Given the description of an element on the screen output the (x, y) to click on. 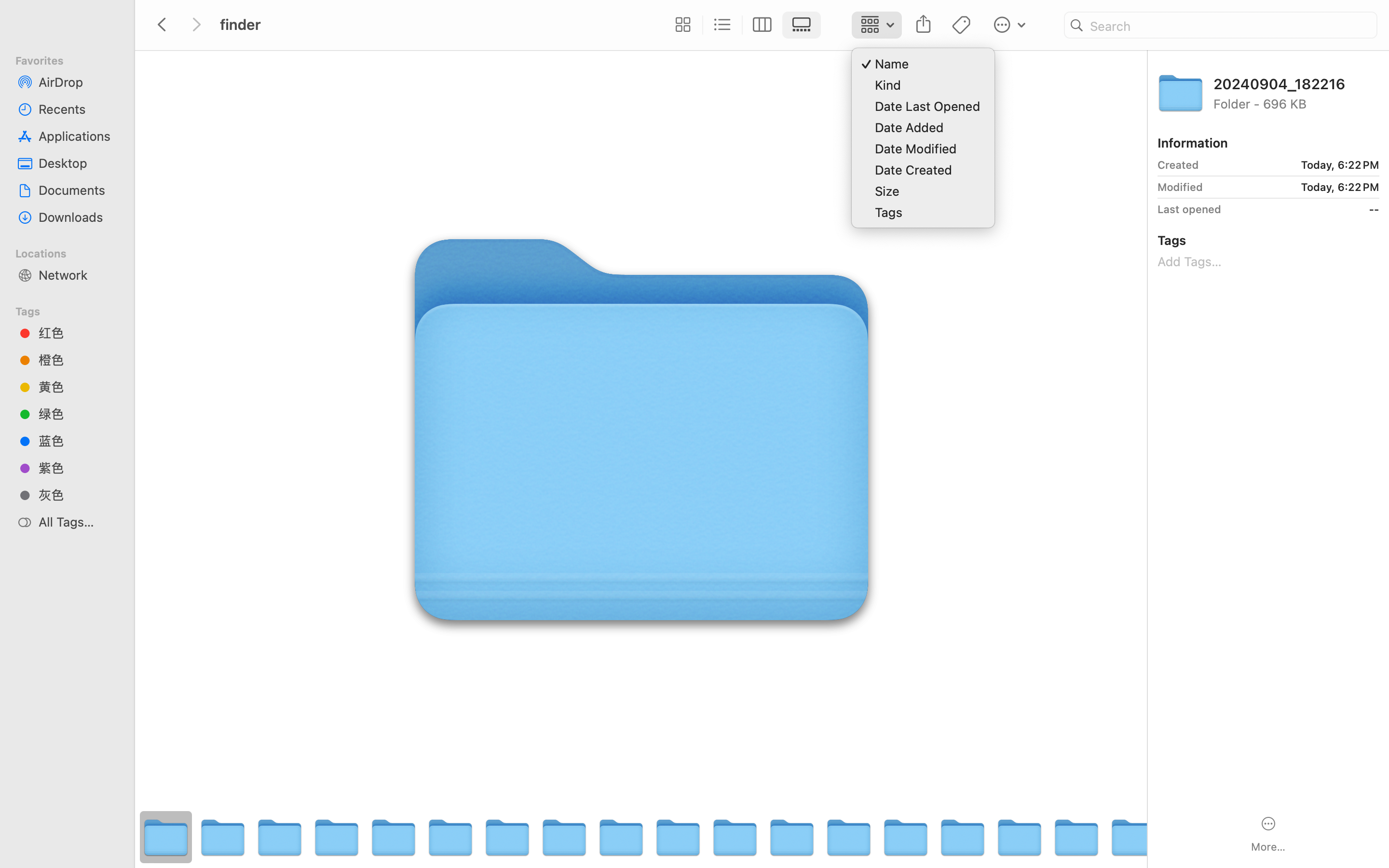
All Tags… Element type: AXStaticText (77, 521)
